Given the description of an element on the screen output the (x, y) to click on. 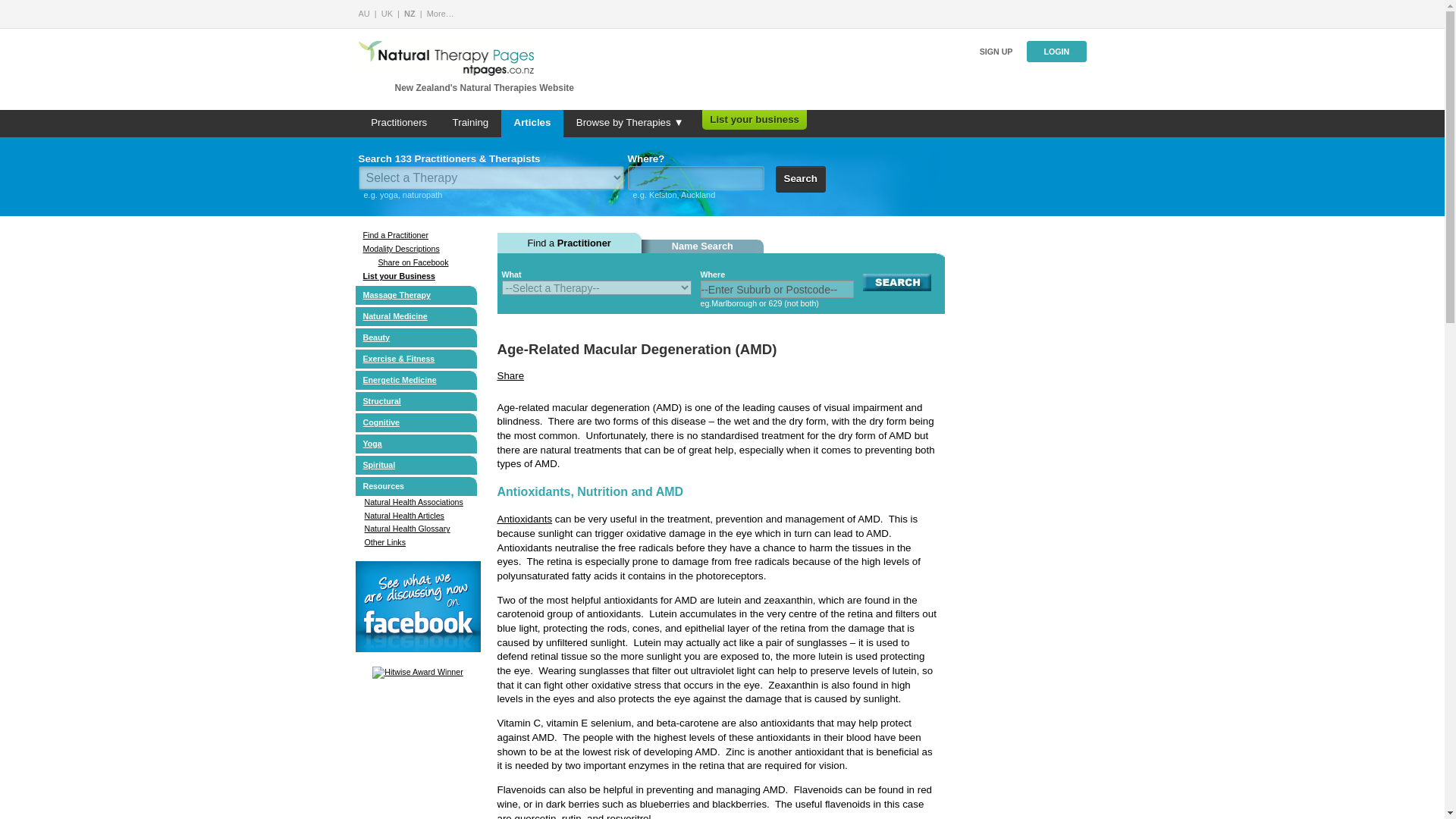
LOGIN (1056, 51)
SIGN UP (996, 51)
AU (363, 13)
Training (469, 123)
Training (469, 123)
Natural Therapy Pages (440, 13)
--Enter Suburb or Postcode-- (776, 289)
Practitioners (398, 123)
List your business (753, 119)
Natural Therapy Pages UK (387, 13)
Articles (531, 123)
UK (387, 13)
Natural Therapy Pages AU (363, 13)
Practitioners (398, 123)
